Given the description of an element on the screen output the (x, y) to click on. 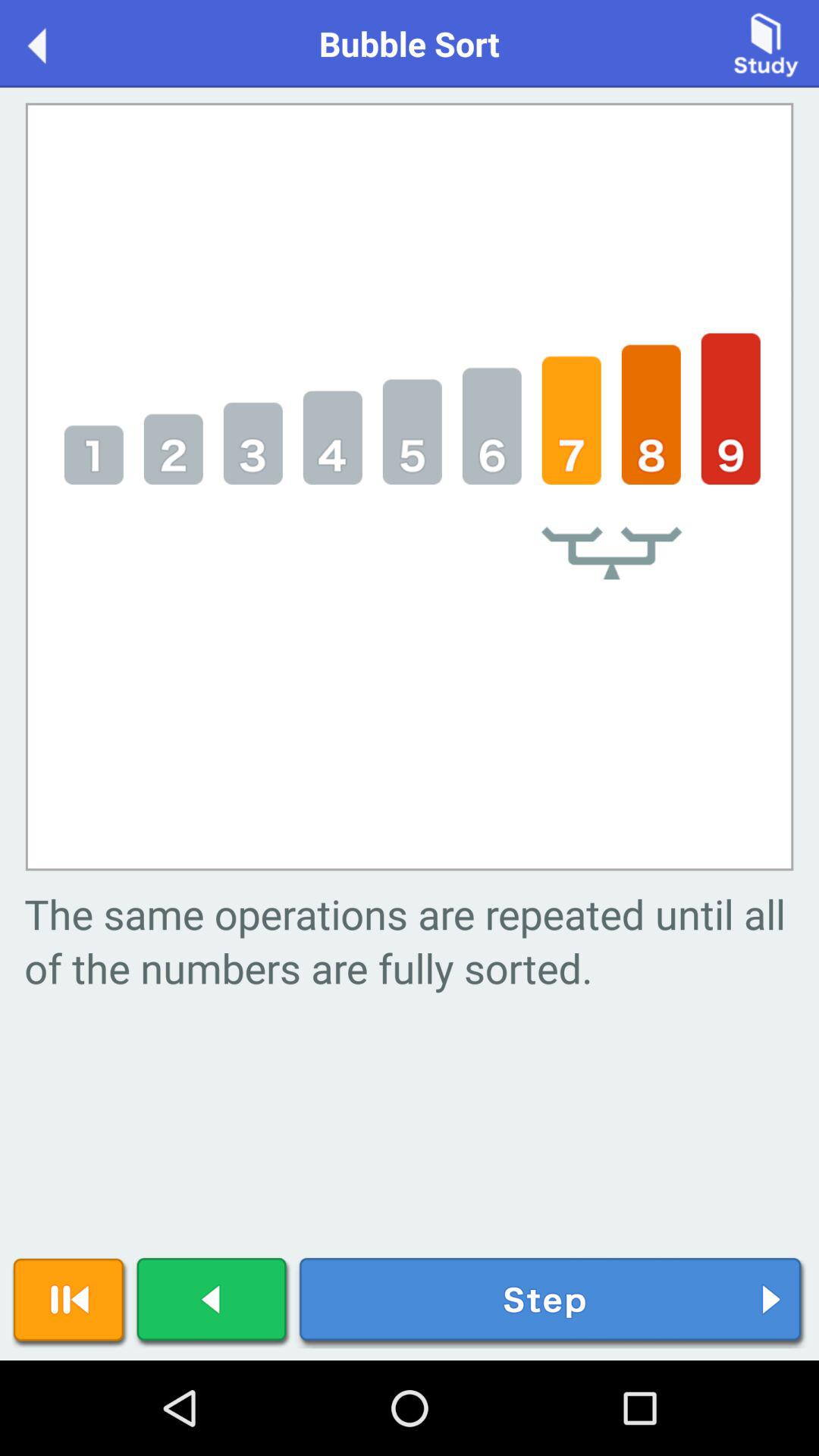
select to study option (766, 42)
